Given the description of an element on the screen output the (x, y) to click on. 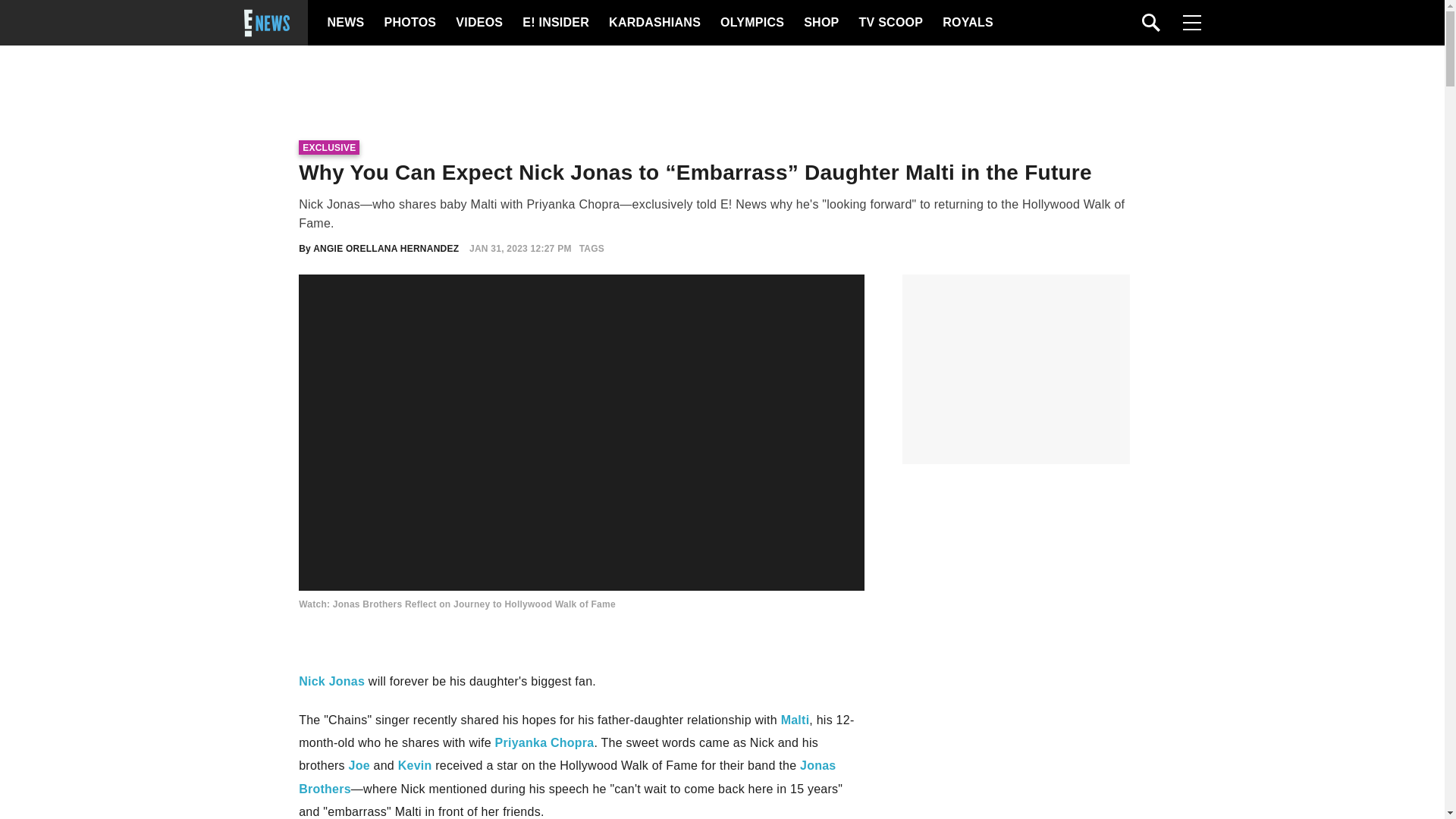
Kevin (414, 765)
Malti (794, 719)
NEWS (345, 22)
Joe (359, 765)
VIDEOS (478, 22)
ROYALS (966, 22)
PHOTOS (408, 22)
KARDASHIANS (653, 22)
E! INSIDER (555, 22)
Priyanka Chopra (544, 742)
